Given the description of an element on the screen output the (x, y) to click on. 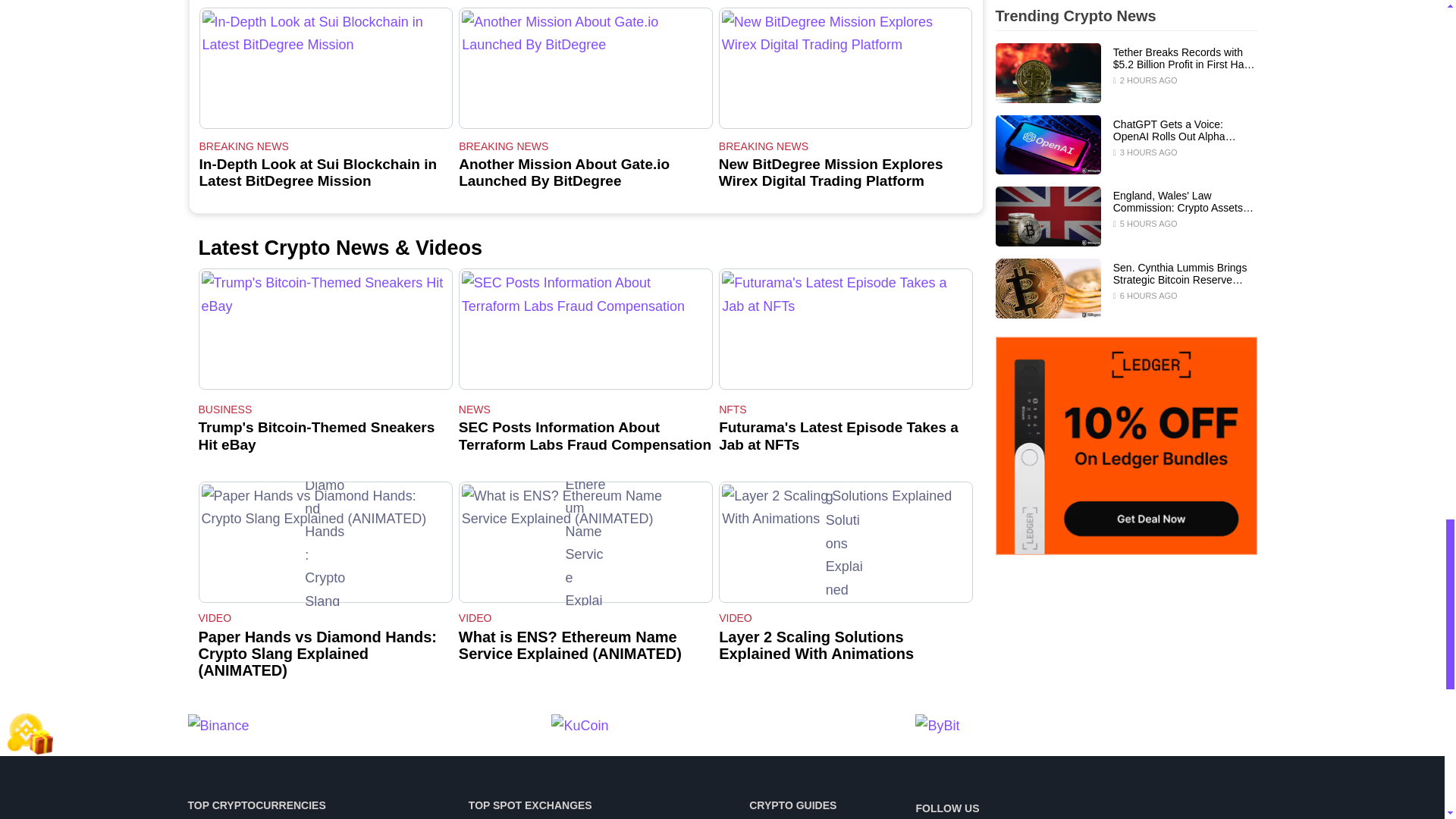
Another Mission About Gate.io Launched By BitDegree (585, 67)
Trump's Bitcoin-Themed Sneakers Hit eBay (325, 328)
Futurama's Latest Episode Takes a Jab at NFTs (845, 328)
In-Depth Look at Sui Blockchain in Latest BitDegree Mission (325, 67)
